Given the description of an element on the screen output the (x, y) to click on. 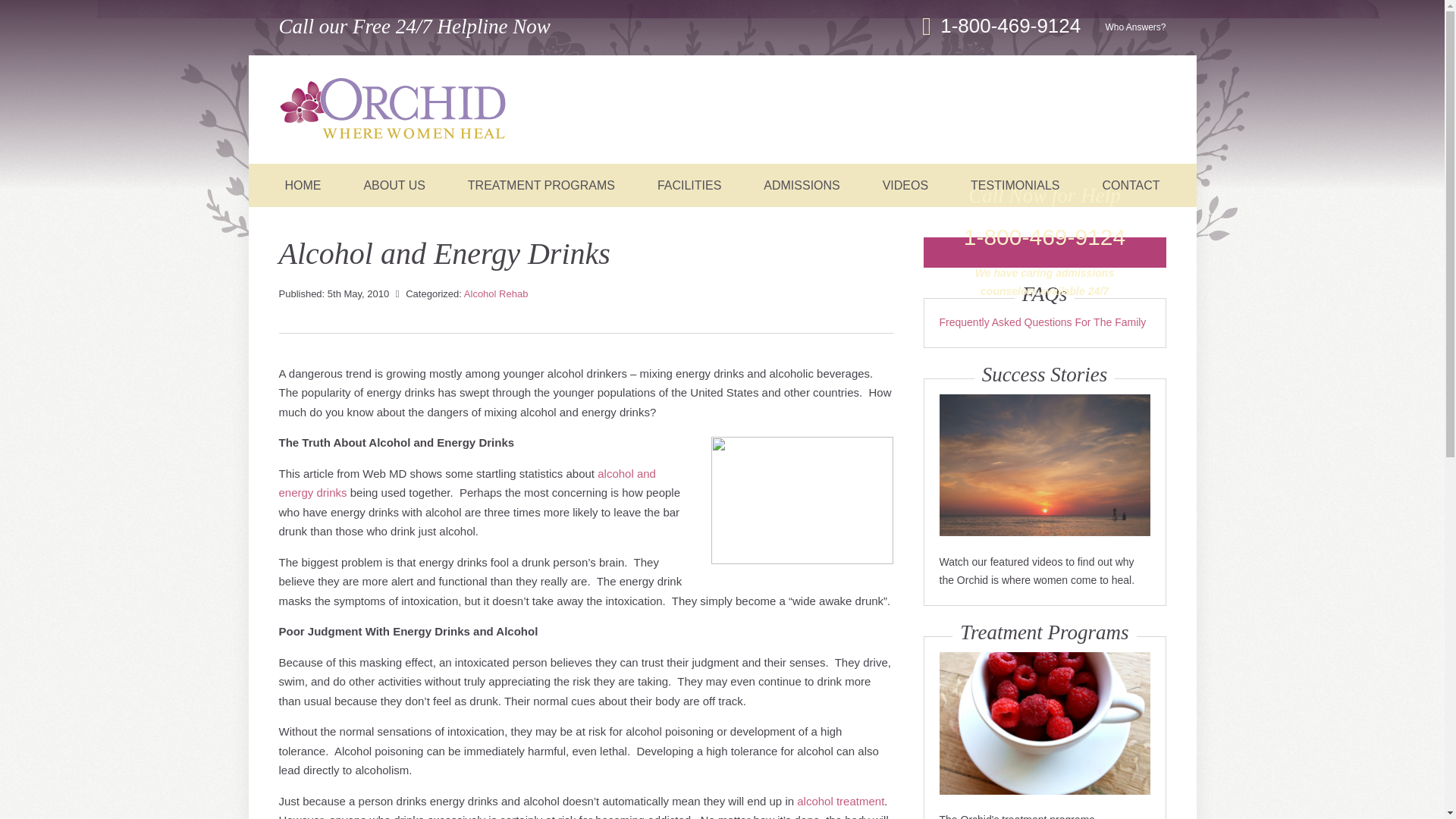
TESTIMONIALS (1015, 185)
Home (392, 110)
VIDEOS (905, 185)
ADMISSIONS (801, 185)
ABOUT US (393, 185)
1-800-469-9124 (1013, 25)
Alcohol Rehab (496, 293)
Alcohol and Energy Drinks (802, 500)
alcohol treatment (839, 800)
TREATMENT PROGRAMS (540, 185)
